Given the description of an element on the screen output the (x, y) to click on. 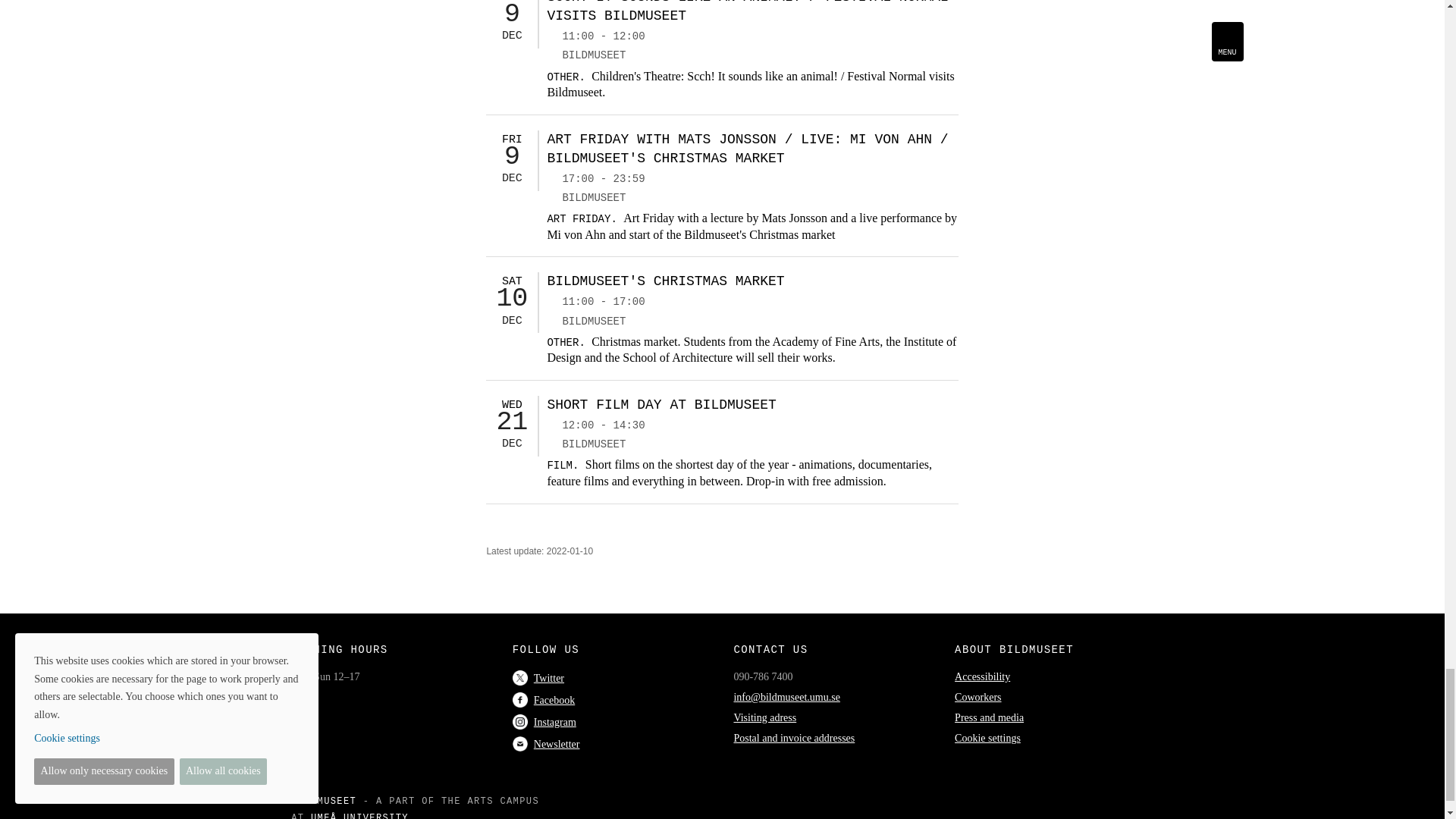
Twitter (538, 677)
